Given the description of an element on the screen output the (x, y) to click on. 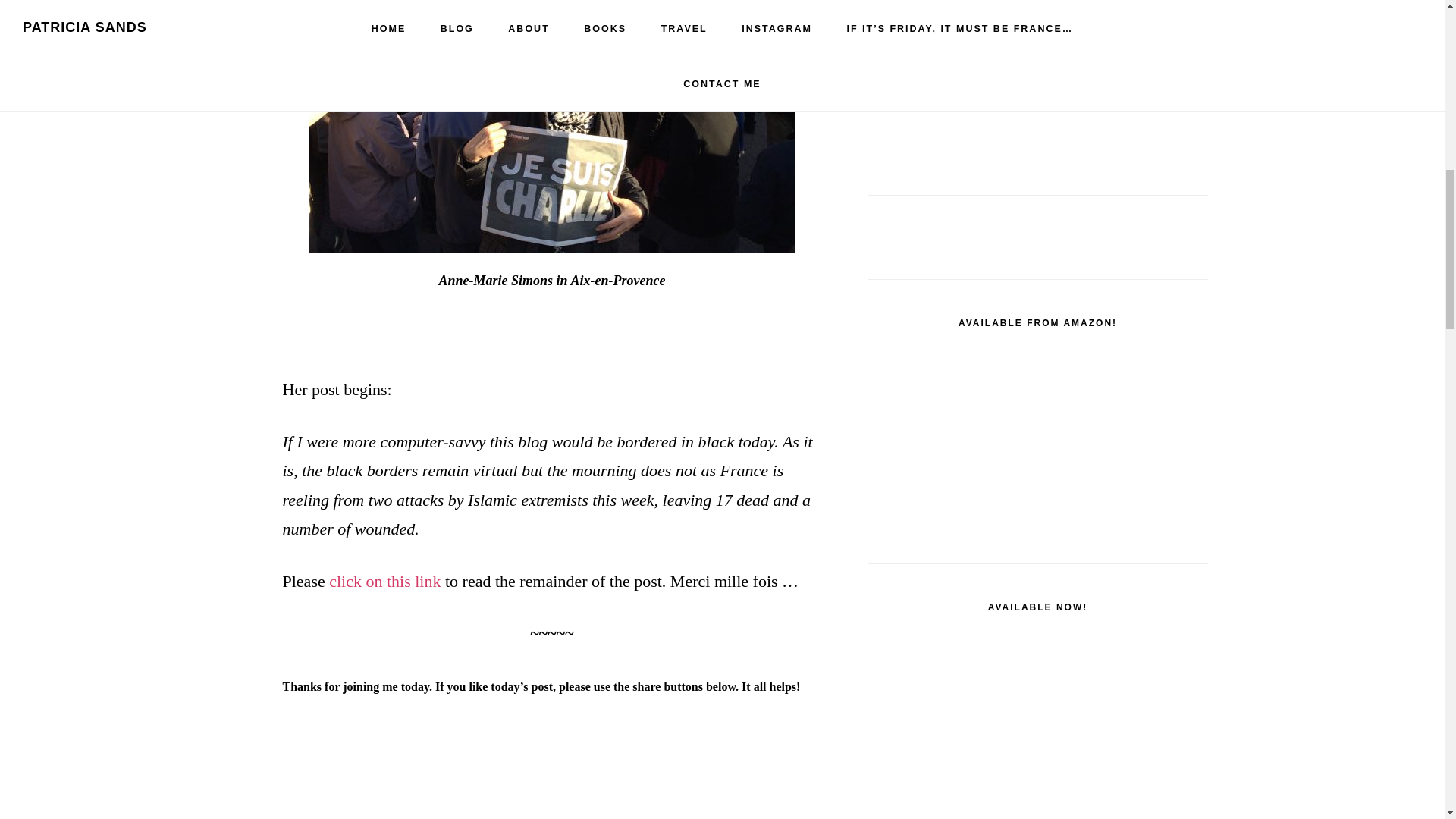
click on this link (385, 580)
